Given the description of an element on the screen output the (x, y) to click on. 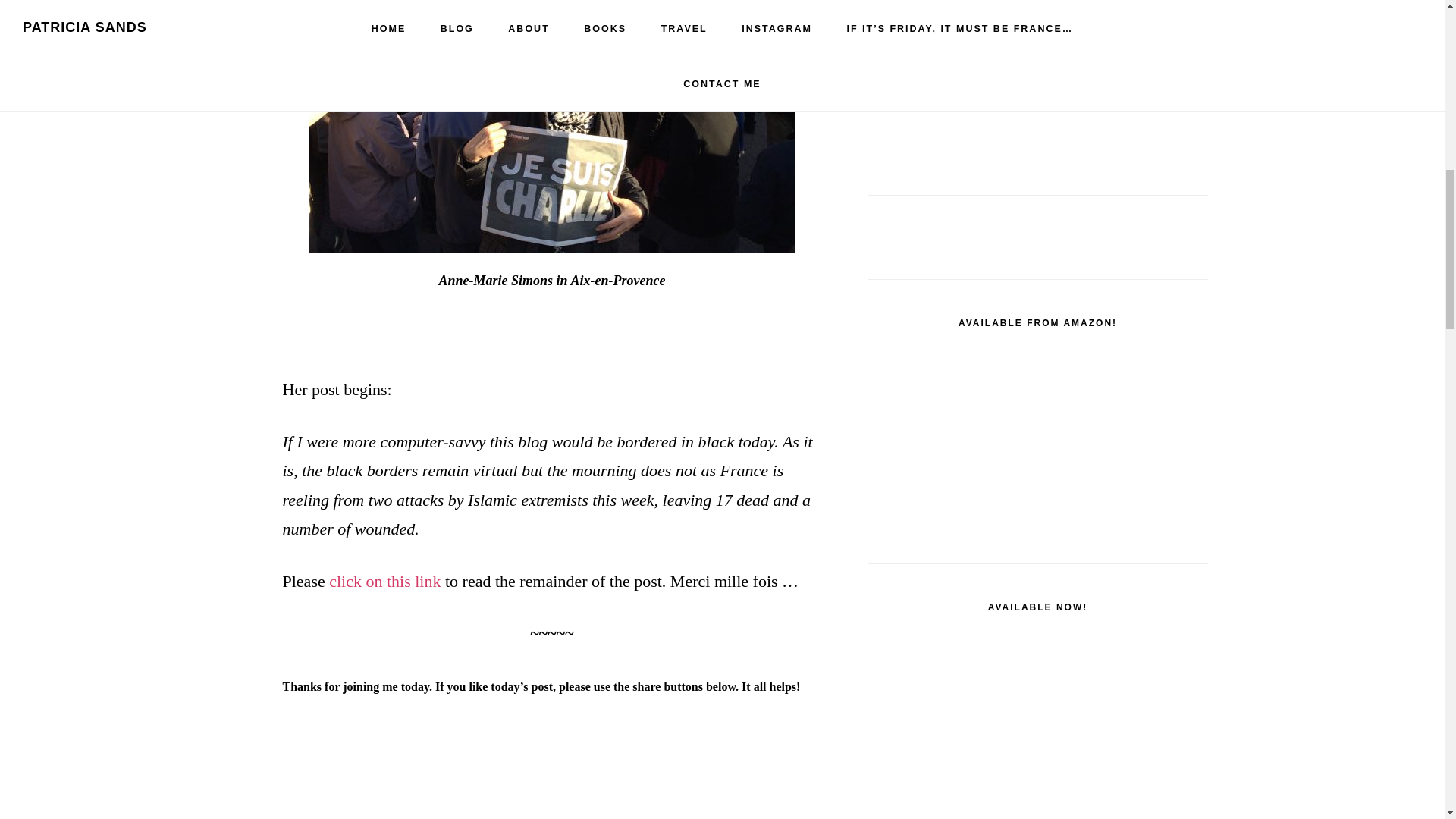
click on this link (385, 580)
